Given the description of an element on the screen output the (x, y) to click on. 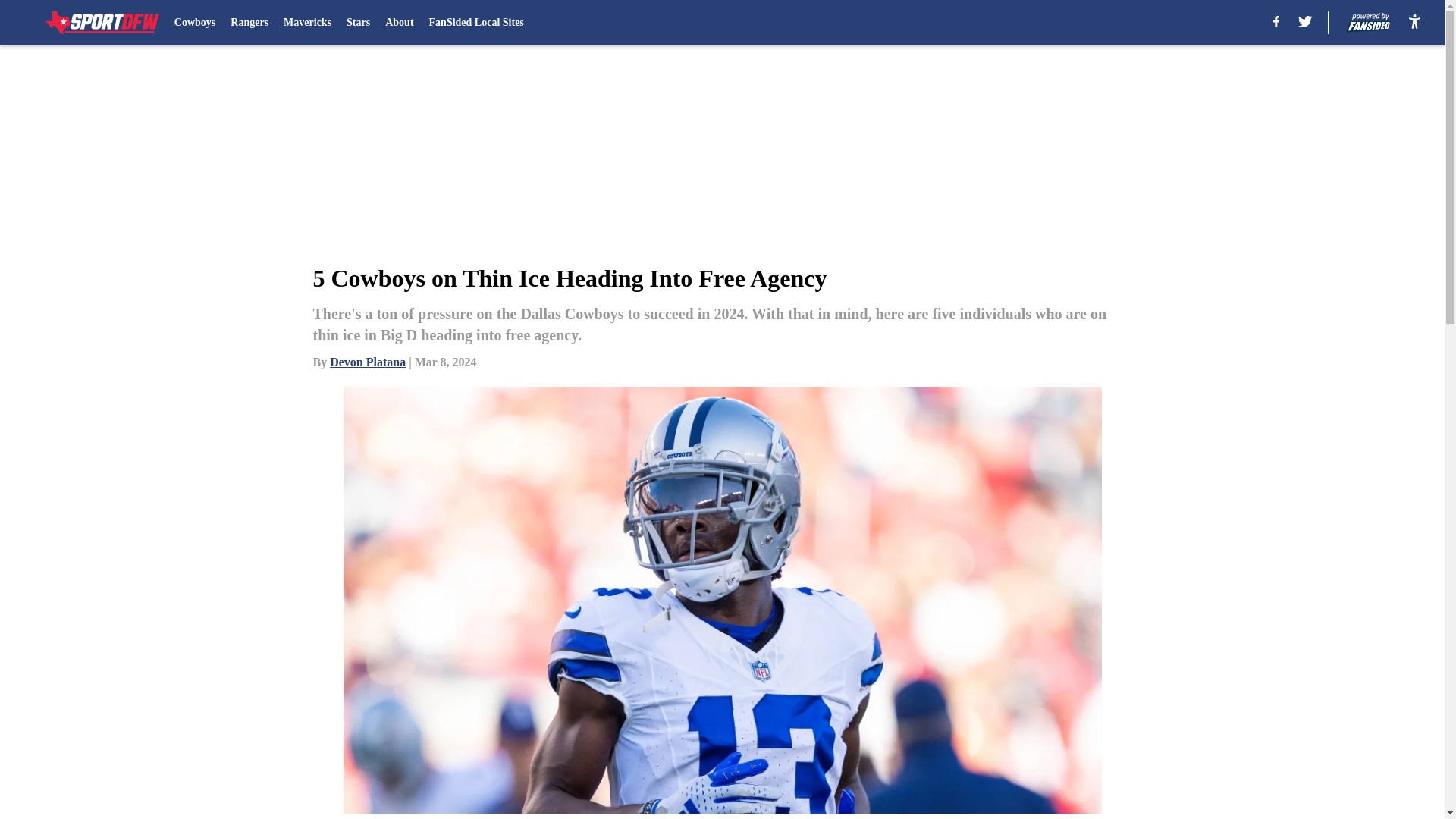
Stars (357, 22)
About (399, 22)
Cowboys (194, 22)
FanSided Local Sites (476, 22)
Mavericks (307, 22)
Rangers (248, 22)
Devon Platana (368, 361)
